Given the description of an element on the screen output the (x, y) to click on. 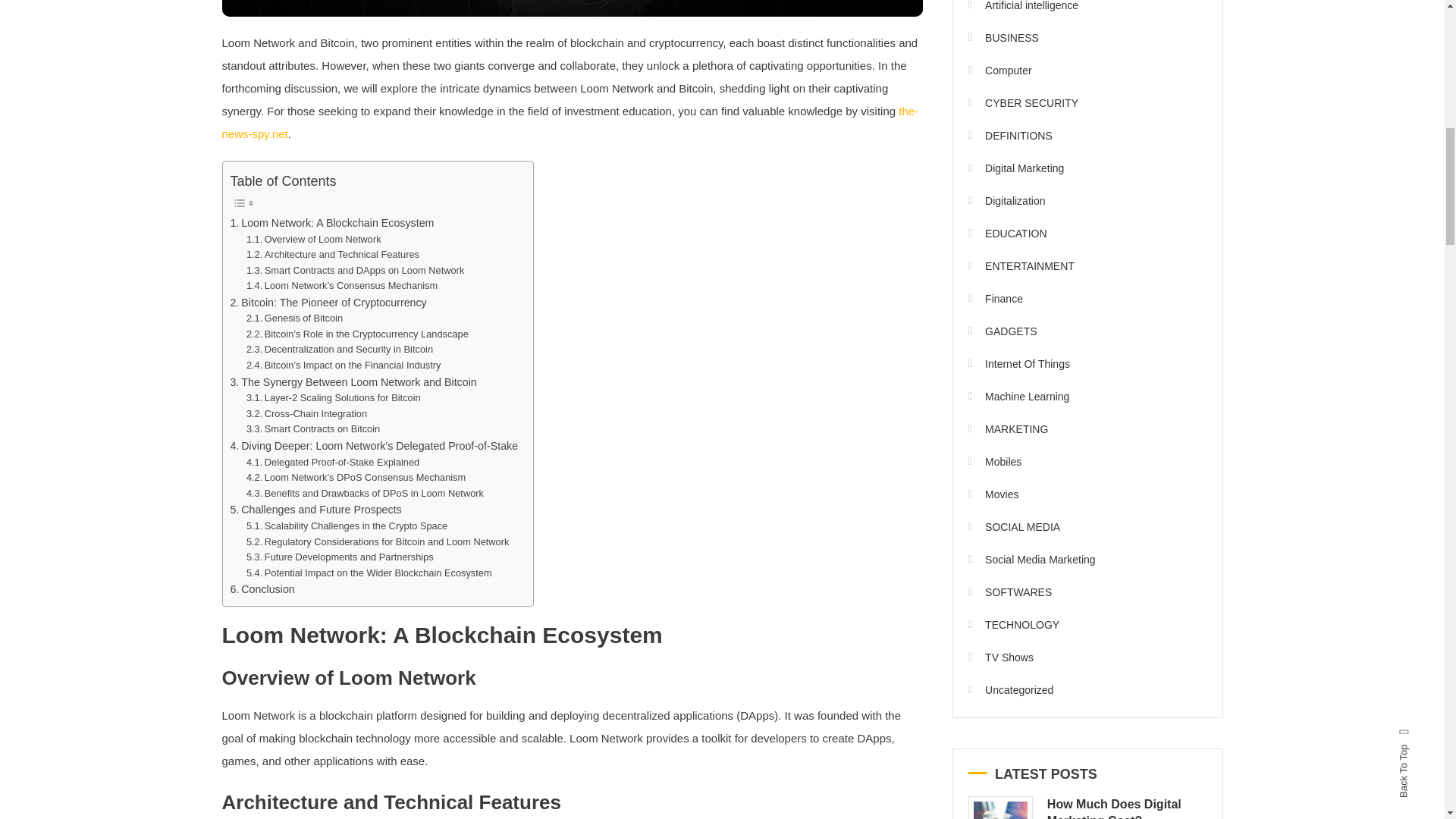
Cross-Chain Integration (306, 414)
Smart Contracts on Bitcoin (313, 429)
Delegated Proof-of-Stake Explained (332, 462)
Smart Contracts and DApps on Loom Network (355, 270)
Overview of Loom Network (313, 239)
Bitcoin: The Pioneer of Cryptocurrency (328, 303)
Genesis of Bitcoin (294, 318)
The Synergy Between Loom Network and Bitcoin (353, 382)
Layer-2 Scaling Solutions for Bitcoin (333, 398)
Decentralization and Security in Bitcoin (339, 349)
